Given the description of an element on the screen output the (x, y) to click on. 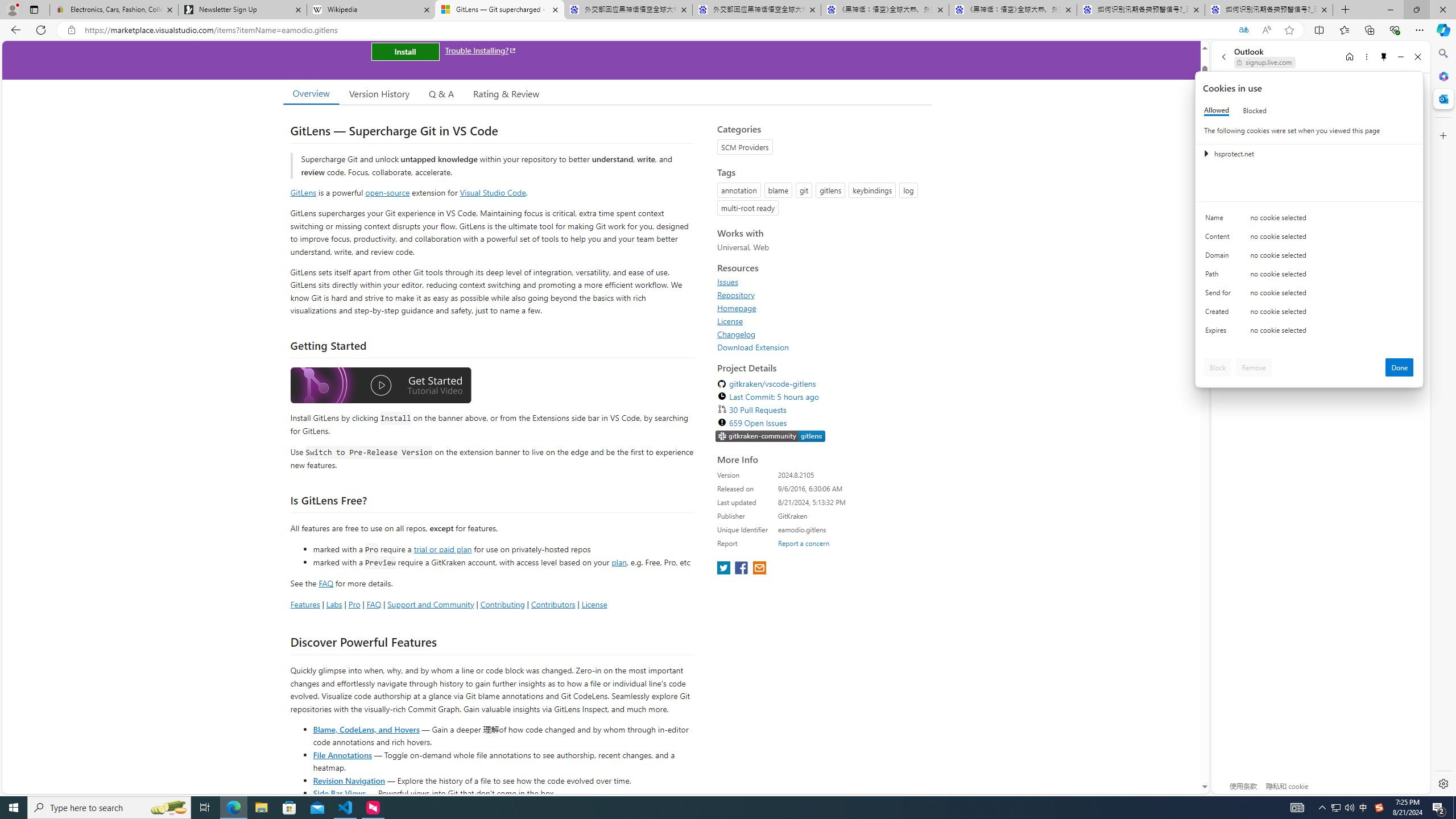
Labs (334, 603)
Download Extension (820, 346)
Changelog (820, 333)
https://slack.gitkraken.com// (769, 436)
License (729, 320)
Translated (1243, 29)
signup.live.com (1264, 61)
Contributors (552, 603)
Download Extension (753, 346)
